Given the description of an element on the screen output the (x, y) to click on. 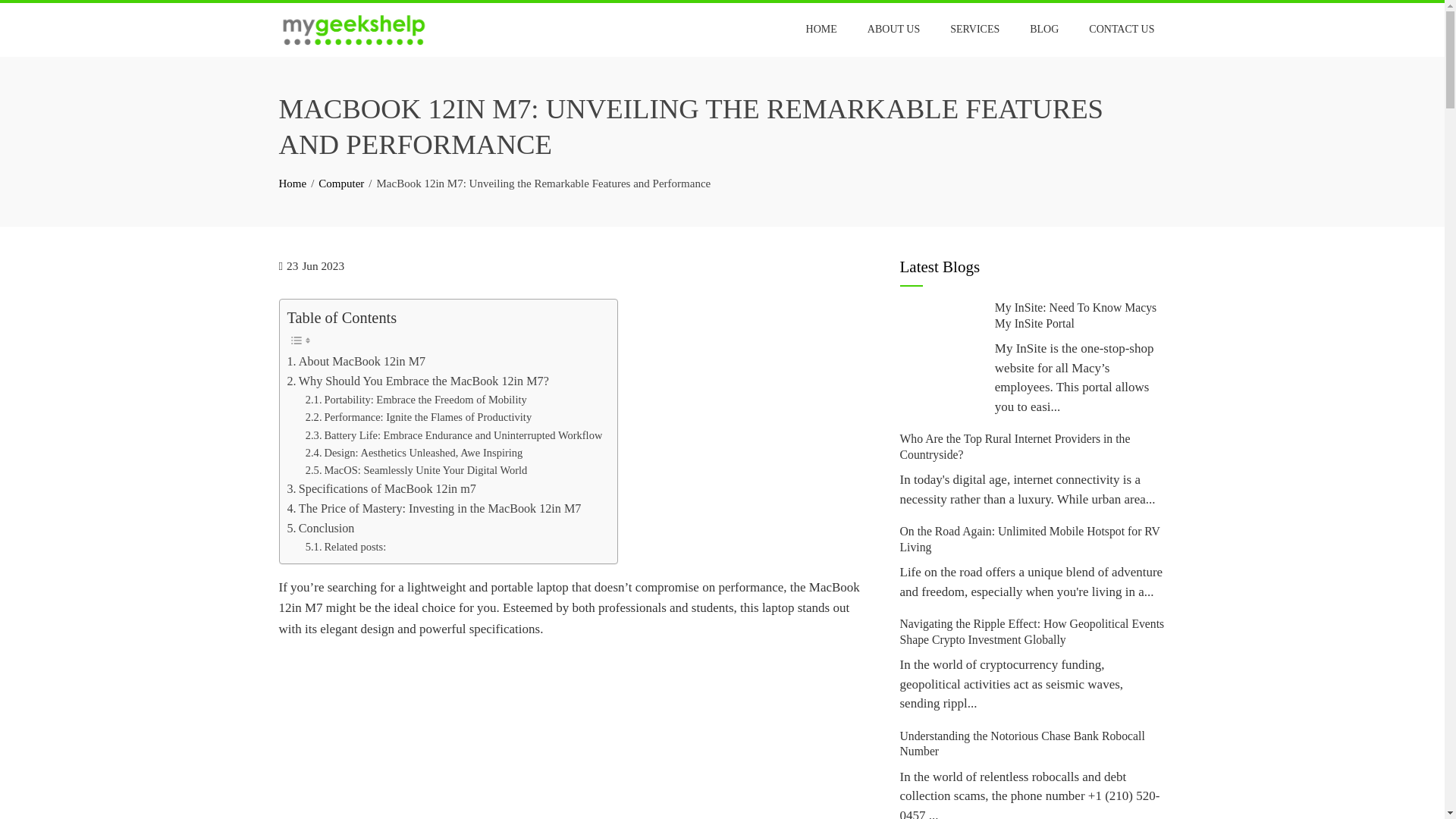
The Price of Mastery: Investing in the MacBook 12in M7 (433, 508)
About MacBook 12in M7 (355, 361)
Who Are the Top Rural Internet Providers in the Countryside? (1014, 446)
Performance: Ignite the Flames of Productivity (418, 416)
MacOS: Seamlessly Unite Your Digital World (416, 470)
Why Should You Embrace the MacBook 12in M7? (417, 381)
Portability: Embrace the Freedom of Mobility (416, 399)
Home (293, 183)
HOME (821, 29)
Why Should You Embrace the MacBook 12in M7? (417, 381)
Conclusion (319, 528)
ABOUT US (893, 29)
Computer (341, 183)
Conclusion (319, 528)
Portability: Embrace the Freedom of Mobility (416, 399)
